Given the description of an element on the screen output the (x, y) to click on. 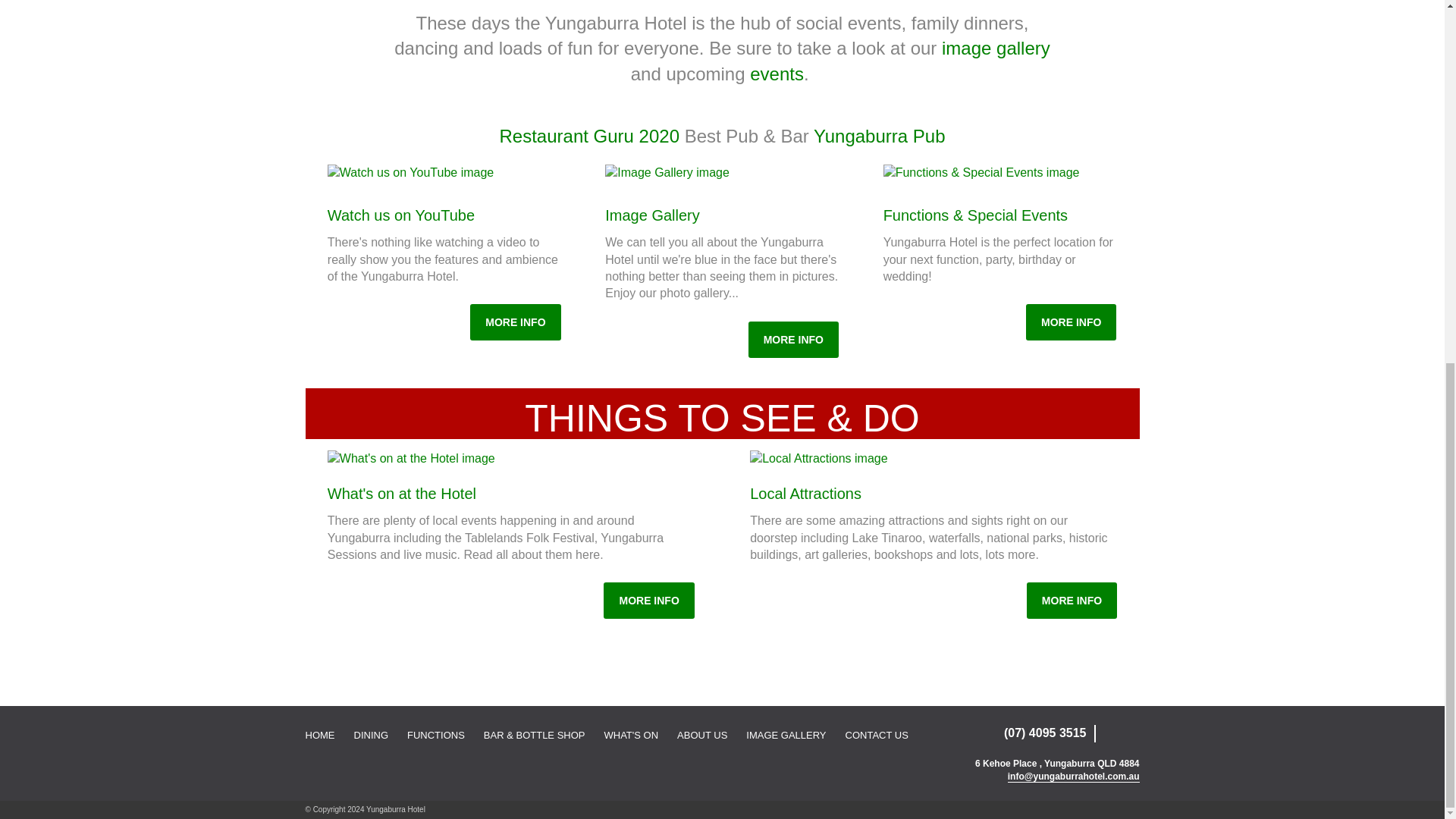
image gallery (995, 47)
events (776, 73)
Yungaburra Pub (878, 136)
Restaurant Guru 2020 (589, 136)
